Given the description of an element on the screen output the (x, y) to click on. 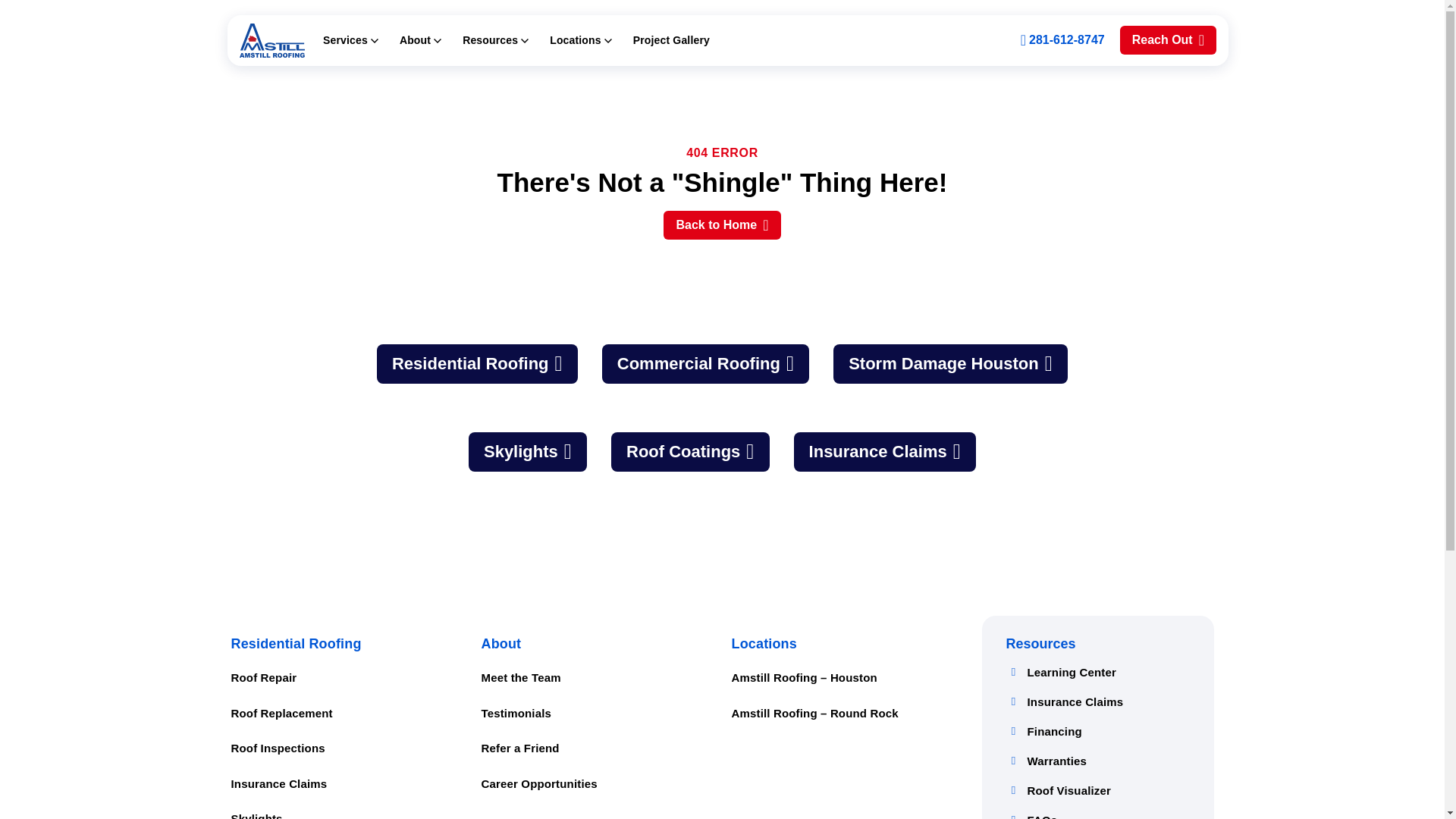
Resources (495, 40)
Services (350, 40)
About (419, 40)
Reach Out (1167, 39)
Project Gallery (671, 39)
Locations (580, 40)
281-612-8747 (1062, 40)
